Given the description of an element on the screen output the (x, y) to click on. 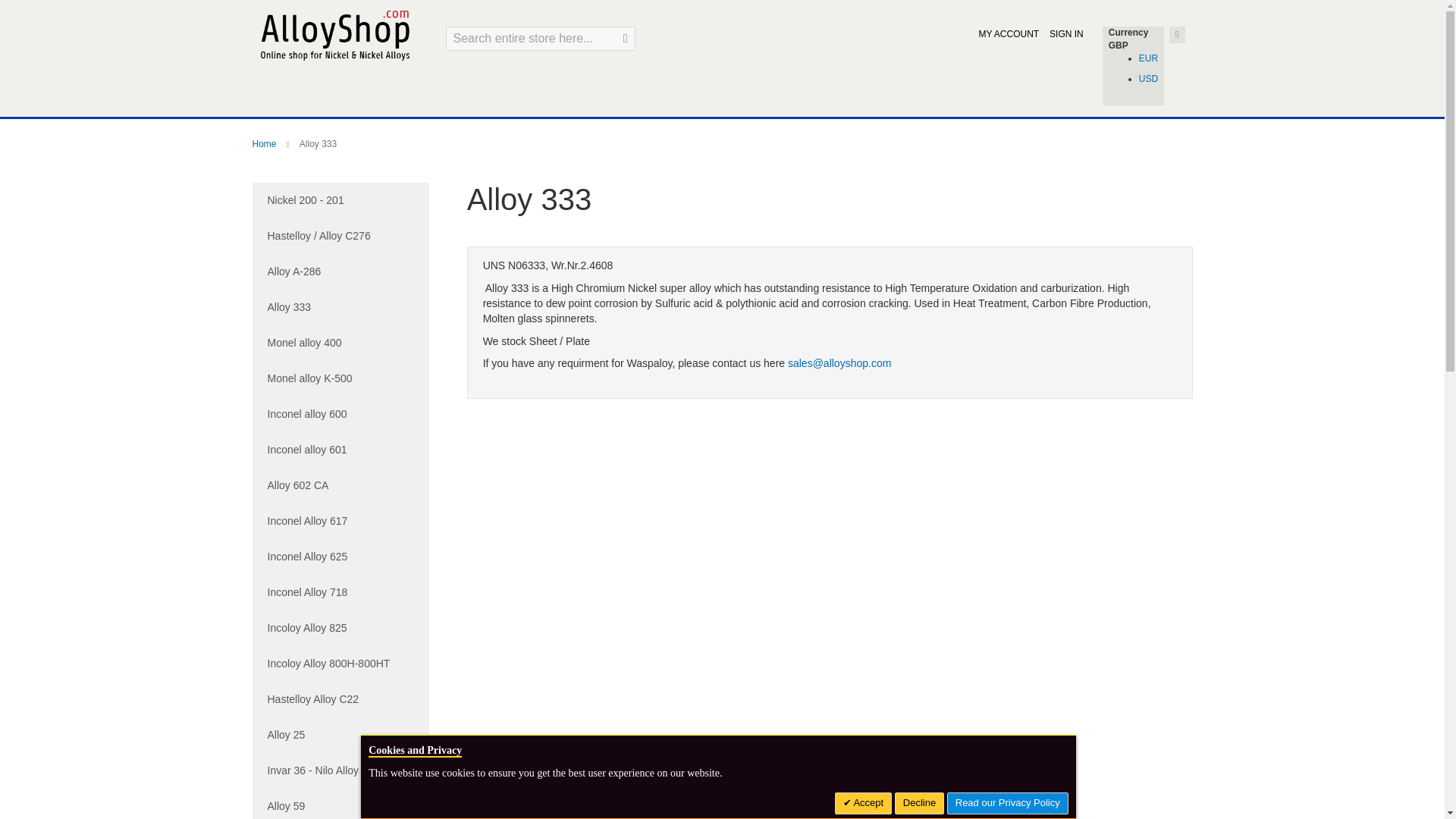
Alloyshop.com (334, 32)
SIGN IN (1066, 33)
Nickel 200 - 201 (340, 200)
MY ACCOUNT (1008, 33)
Alloy A-286 (340, 271)
My Cart (1177, 34)
Go to Home Page (264, 143)
USD (1147, 78)
Home (264, 143)
EUR (1147, 58)
